Given the description of an element on the screen output the (x, y) to click on. 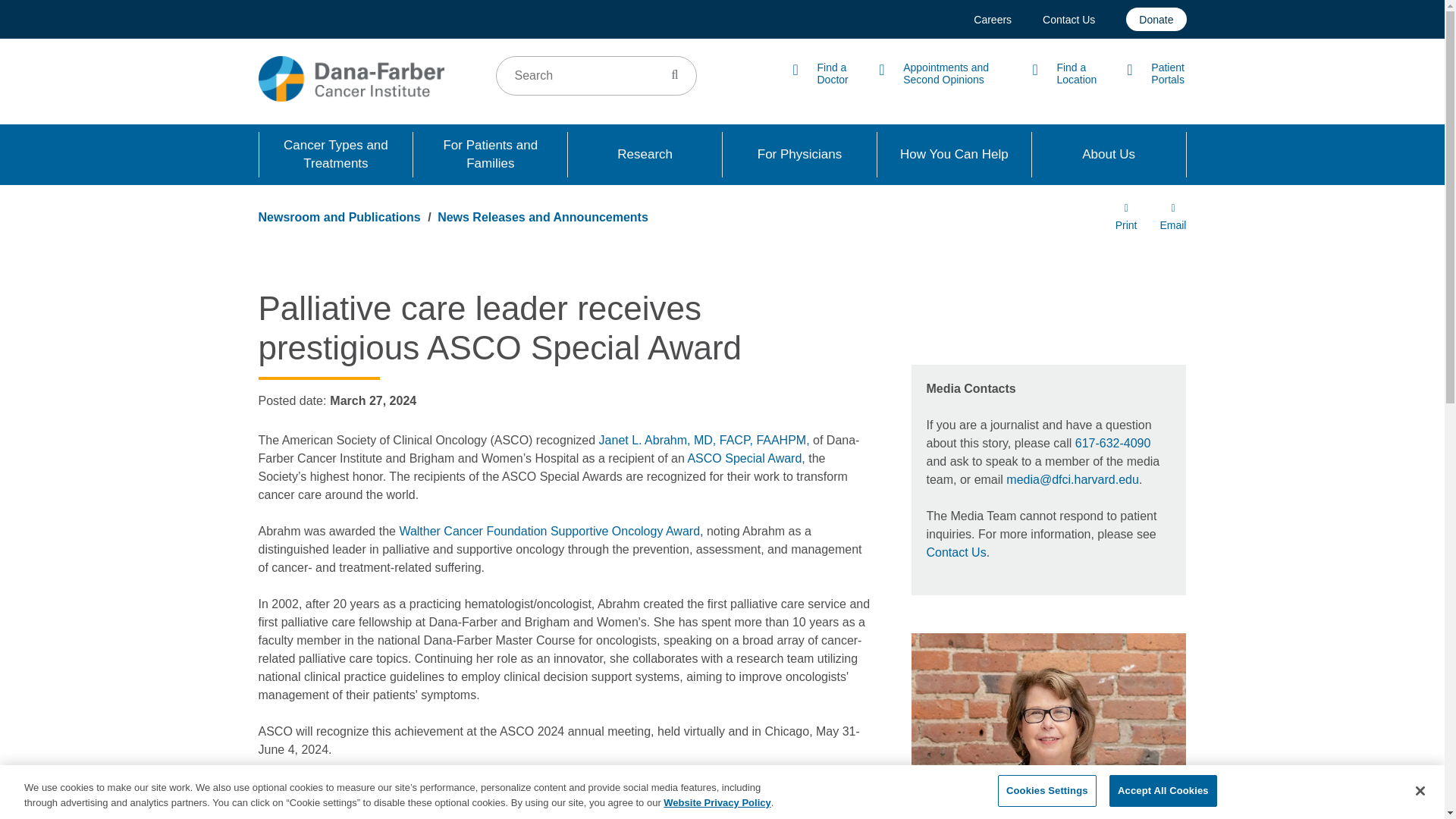
Find a Location (1064, 73)
Appointments and Second Opinions (940, 73)
For Patients and Families (490, 154)
Donate (1155, 19)
Janet L. Abrahm, MD (703, 440)
Find a Doctor (820, 73)
Patient Portals (1156, 73)
Cancer Types and Treatments (336, 154)
Contact Us (1068, 18)
